Given the description of an element on the screen output the (x, y) to click on. 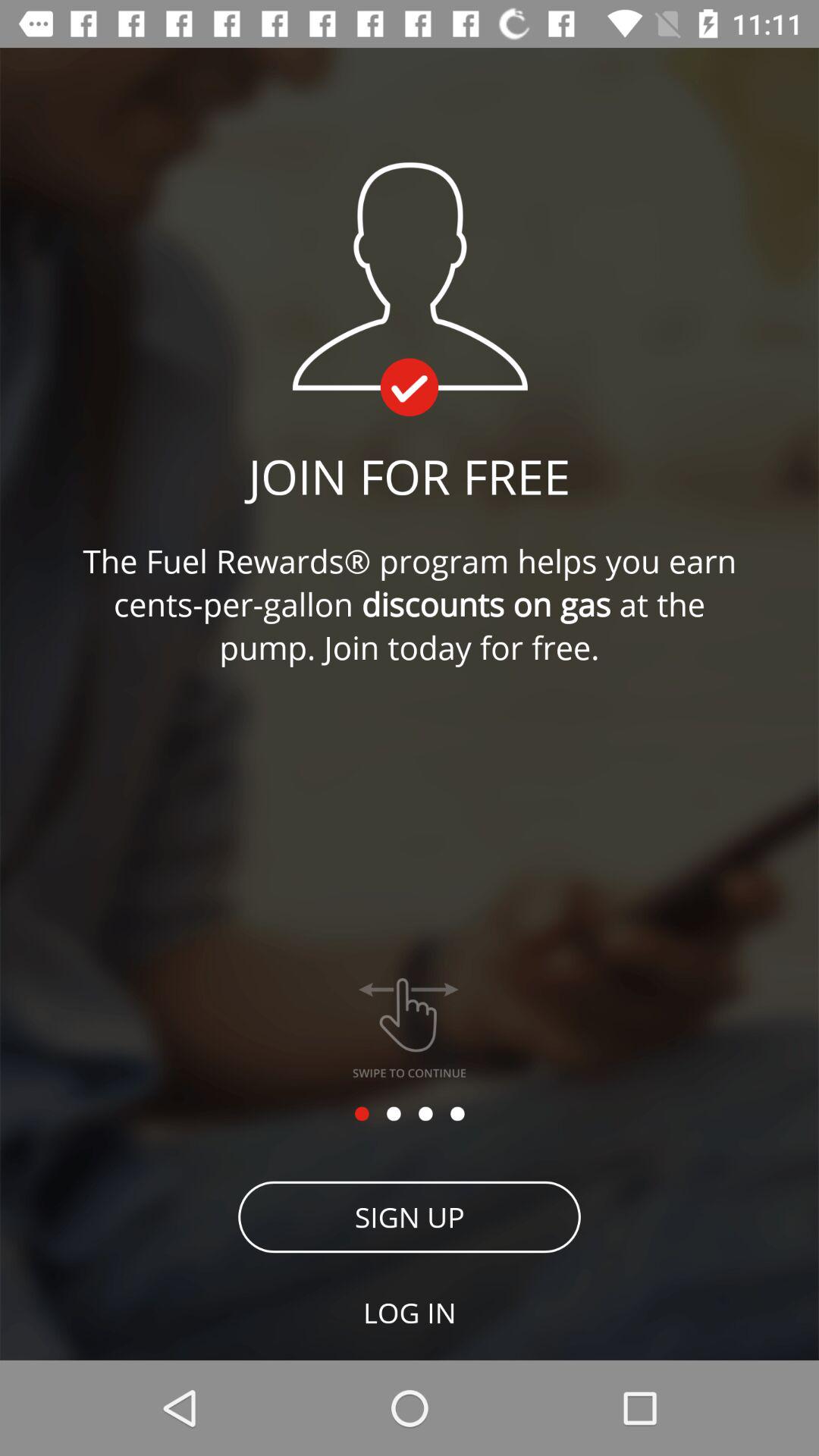
scroll until the log in item (409, 1312)
